Given the description of an element on the screen output the (x, y) to click on. 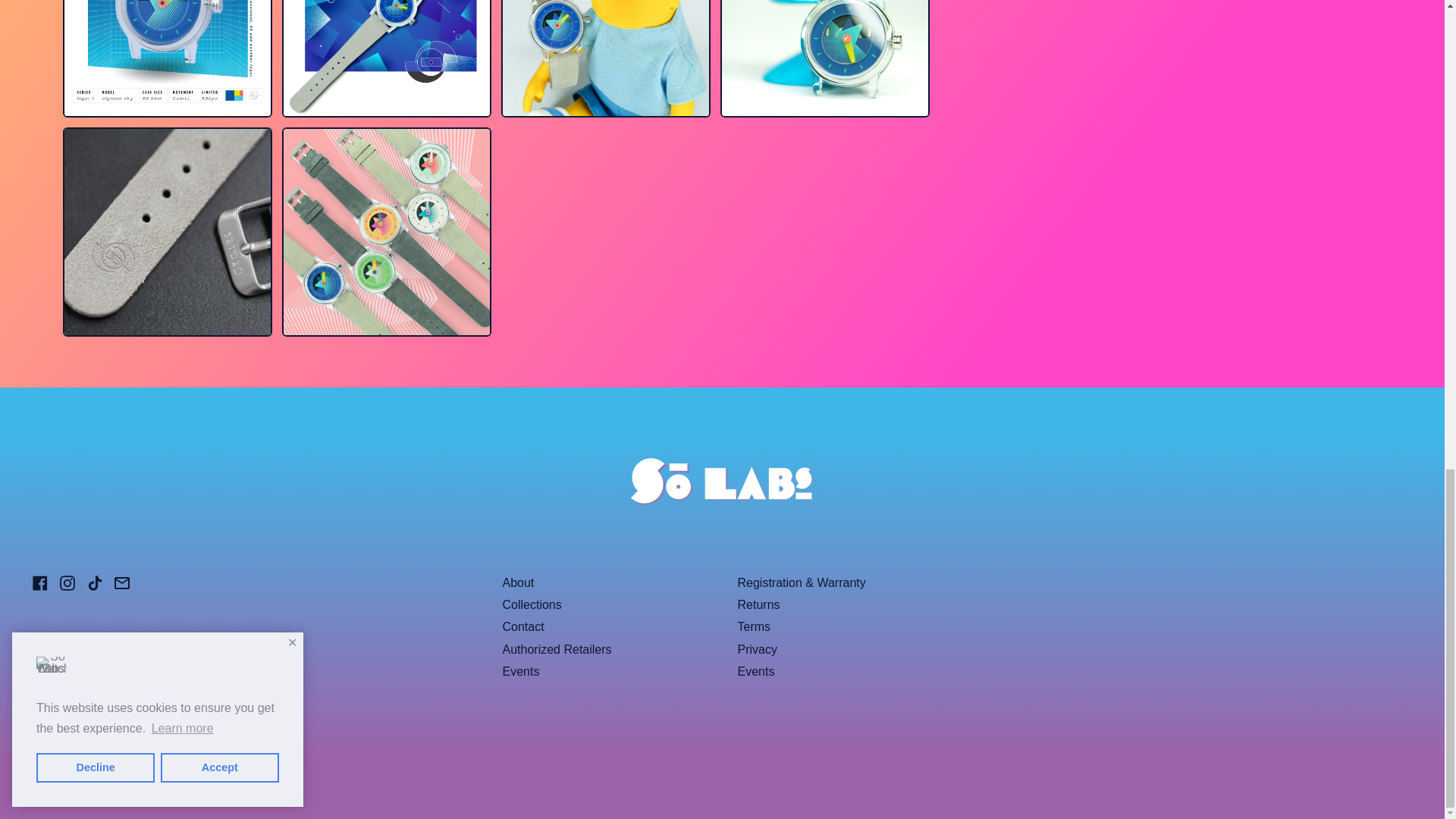
Facebook (39, 585)
Privacy (756, 649)
Collections (531, 604)
About (518, 582)
TikTok (93, 585)
Terms (753, 626)
Instagram (66, 585)
Contact (522, 626)
Email (121, 585)
Authorized Retailers (556, 649)
Events (520, 671)
Events (755, 671)
Returns (757, 604)
